Given the description of an element on the screen output the (x, y) to click on. 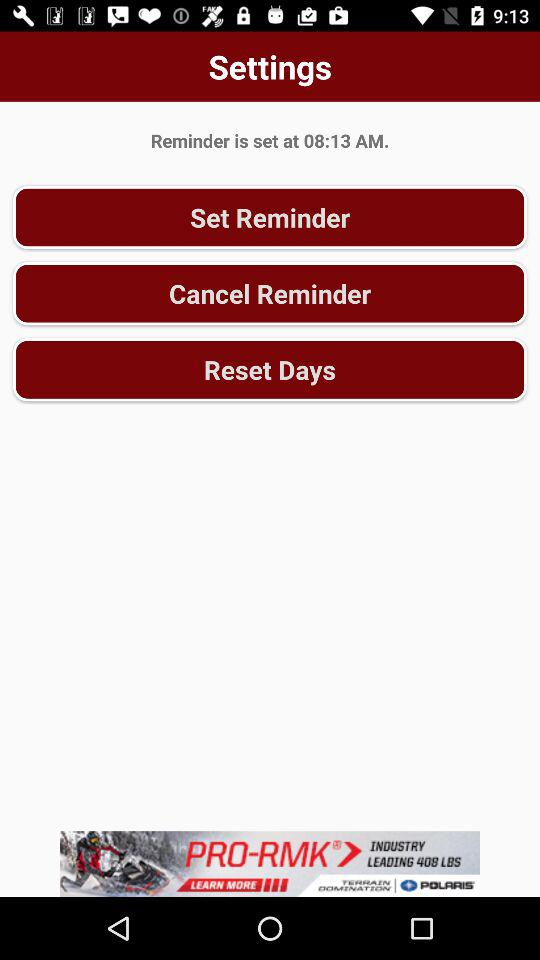
go to website (270, 864)
